Given the description of an element on the screen output the (x, y) to click on. 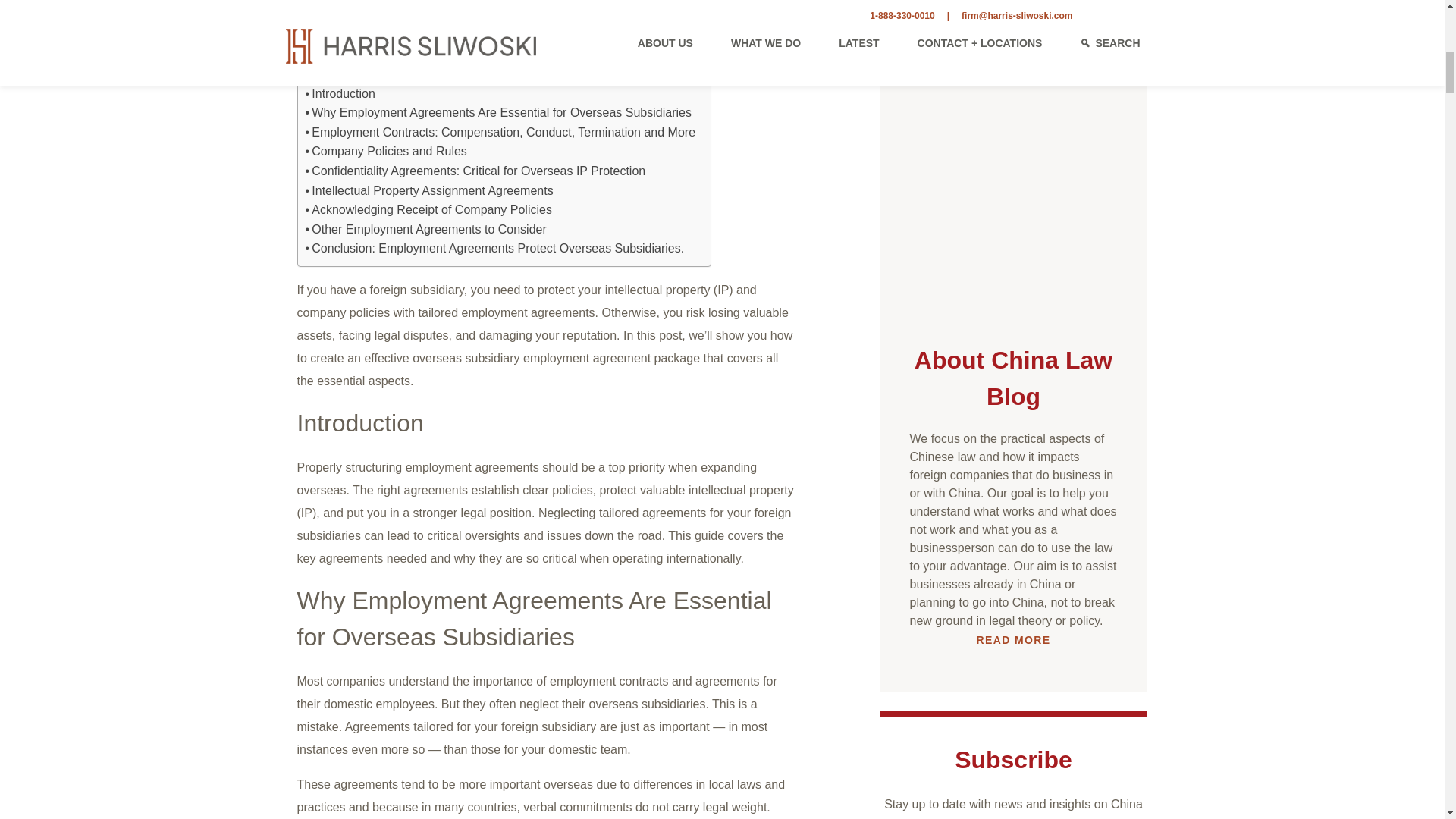
Acknowledging Receipt of Company Policies (427, 209)
Intellectual Property Assignment Agreements (428, 190)
Other Employment Agreements to Consider (425, 229)
Company Policies and Rules (384, 151)
Introduction (339, 94)
